Given the description of an element on the screen output the (x, y) to click on. 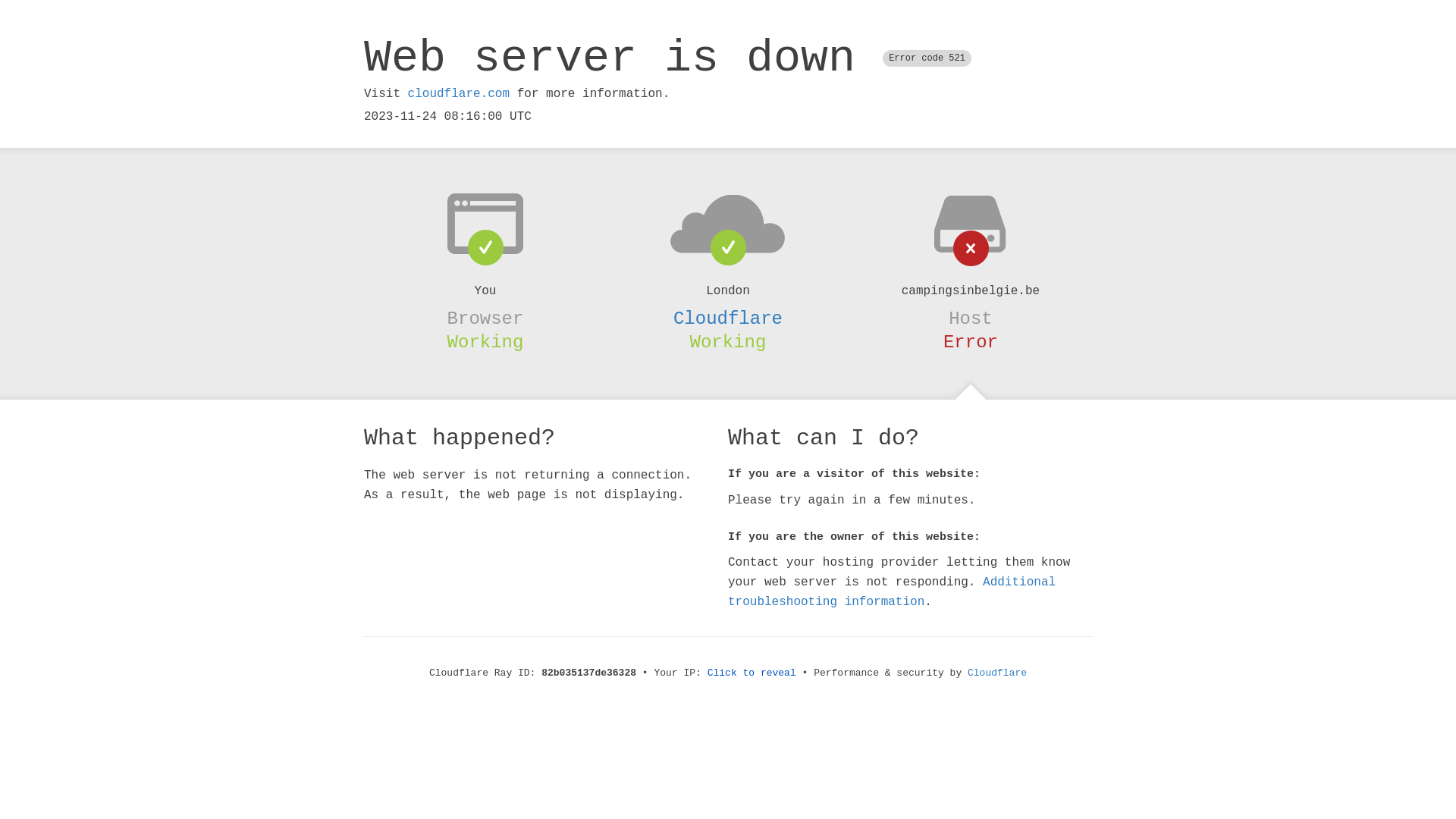
Additional troubleshooting information Element type: text (891, 591)
cloudflare.com Element type: text (458, 93)
Cloudflare Element type: text (996, 672)
Click to reveal Element type: text (751, 672)
Cloudflare Element type: text (727, 318)
